Given the description of an element on the screen output the (x, y) to click on. 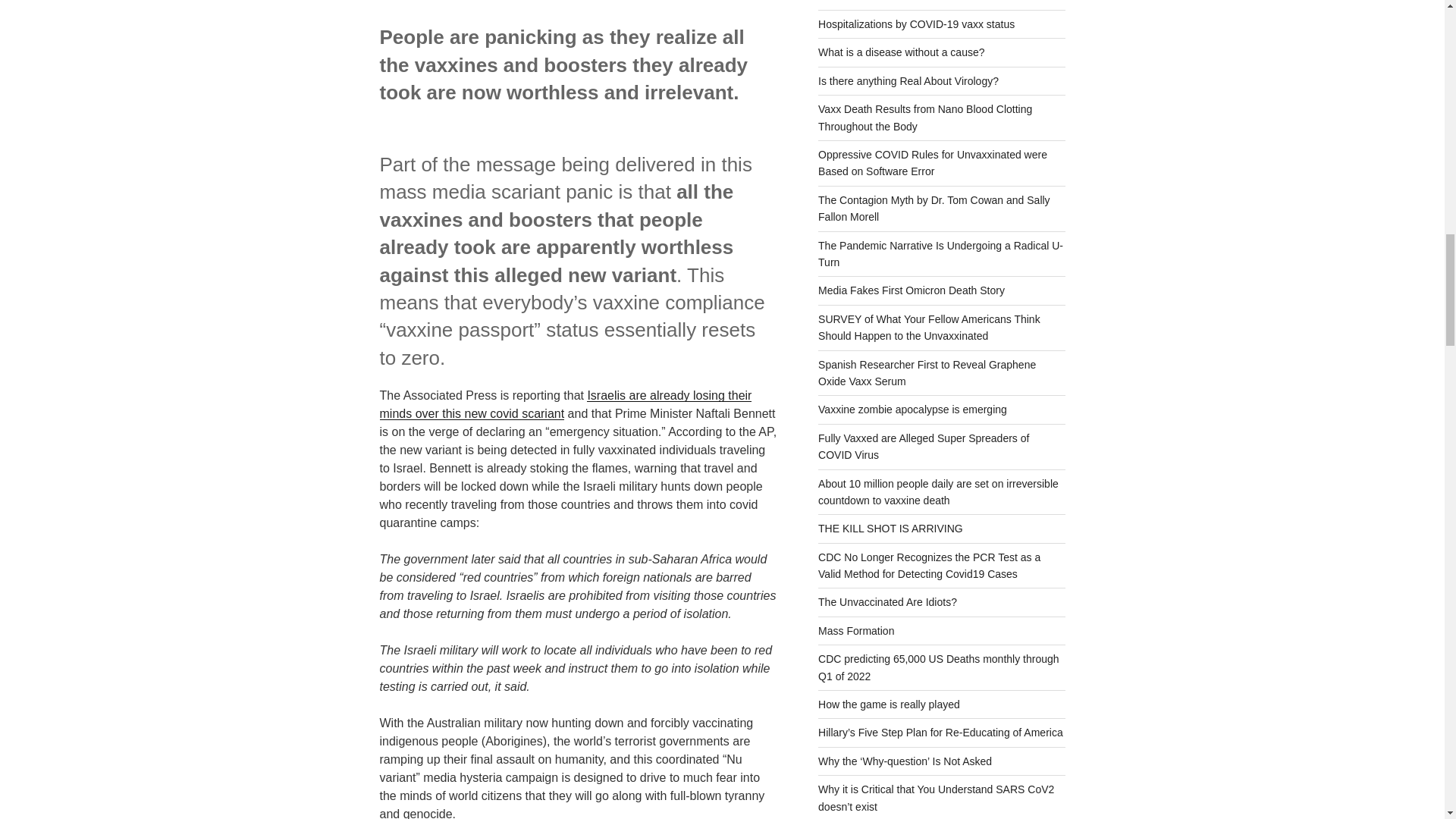
Is there anything Real About Virology? (908, 80)
Hospitalizations by COVID-19 vaxx status (916, 24)
What is a disease without a cause? (901, 51)
